Given the description of an element on the screen output the (x, y) to click on. 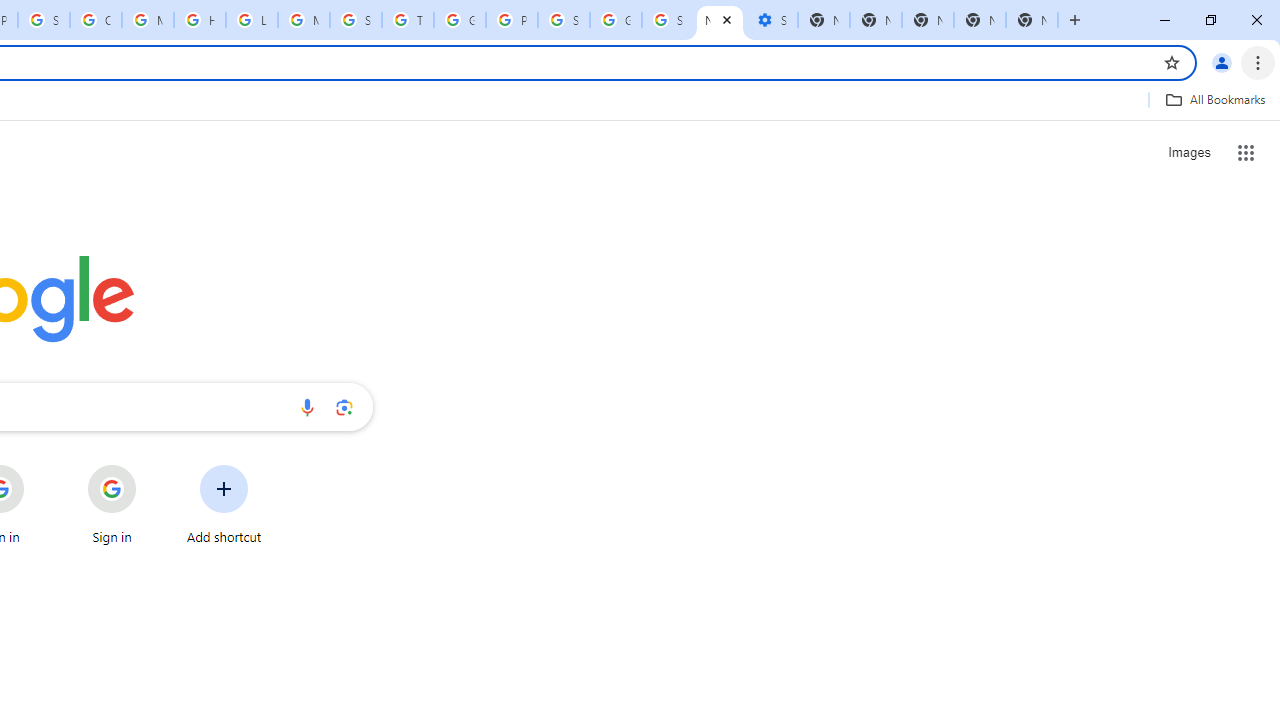
Sign in - Google Accounts (563, 20)
Google Ads - Sign in (459, 20)
Search by voice (307, 407)
New Tab (1032, 20)
New Tab (979, 20)
All Bookmarks (1215, 99)
